Given the description of an element on the screen output the (x, y) to click on. 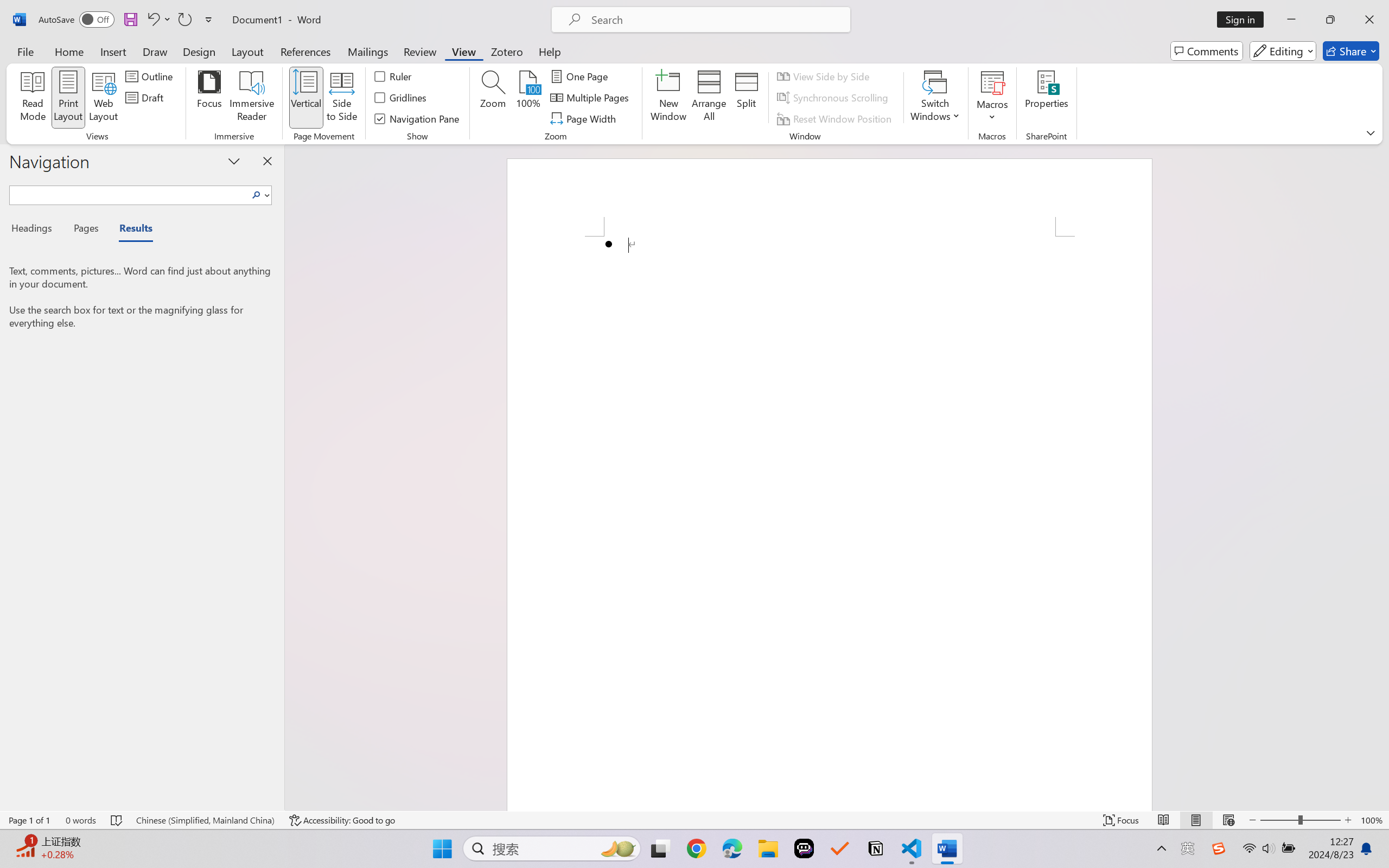
Immersive Reader (251, 97)
View Side by Side (824, 75)
Repeat Bullet Default (184, 19)
Navigation Pane (417, 118)
